Given the description of an element on the screen output the (x, y) to click on. 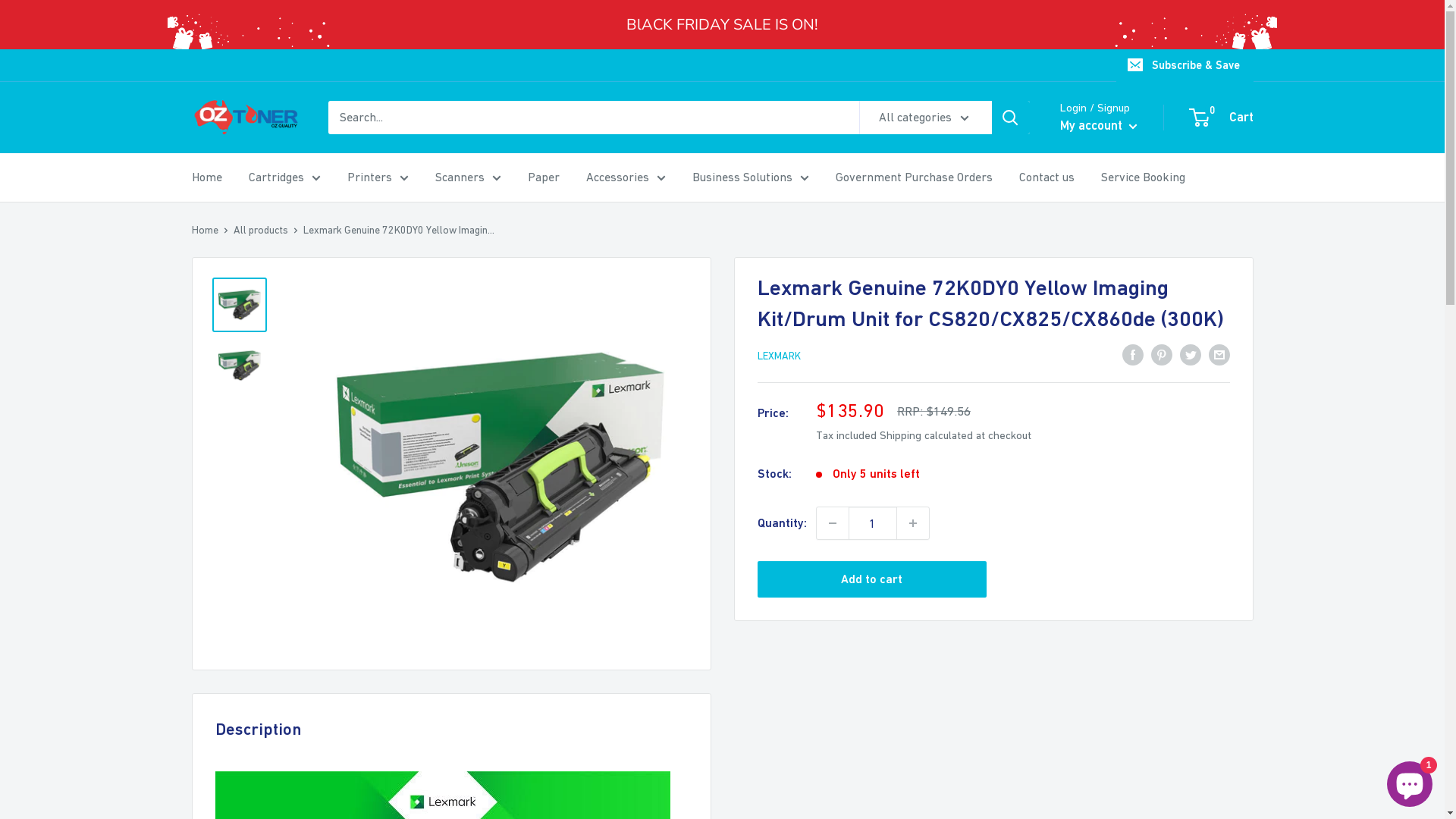
Increase quantity by 1 Element type: hover (912, 523)
Printers Element type: text (377, 177)
Government Purchase Orders Element type: text (913, 177)
Decrease quantity by 1 Element type: hover (831, 523)
Add to cart Element type: text (871, 579)
Paper Element type: text (543, 177)
Contact us Element type: text (1046, 177)
Shopify online store chat Element type: hover (1409, 780)
Business Solutions Element type: text (749, 177)
Accessories Element type: text (625, 177)
Subscribe & Save Element type: text (1184, 65)
LEXMARK Element type: text (778, 355)
Home Element type: text (204, 229)
OZ Toner Element type: text (244, 117)
My account Element type: text (1098, 125)
All products Element type: text (260, 229)
Scanners Element type: text (468, 177)
Service Booking Element type: text (1143, 177)
0
Cart Element type: text (1221, 117)
Cartridges Element type: text (284, 177)
Home Element type: text (206, 177)
